Given the description of an element on the screen output the (x, y) to click on. 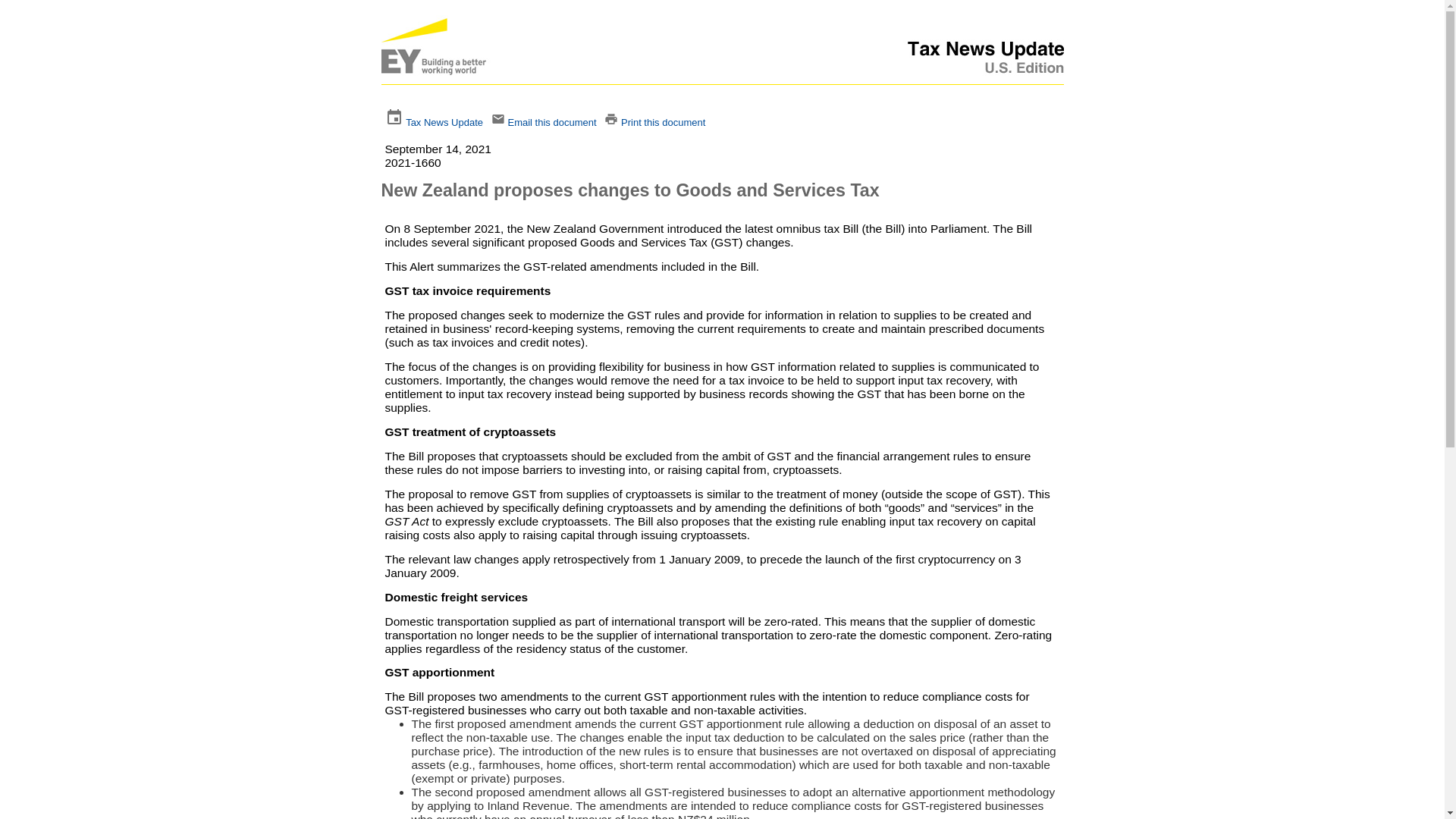
Print this document (662, 122)
Tax News Update (444, 122)
Email this document (550, 122)
